Given the description of an element on the screen output the (x, y) to click on. 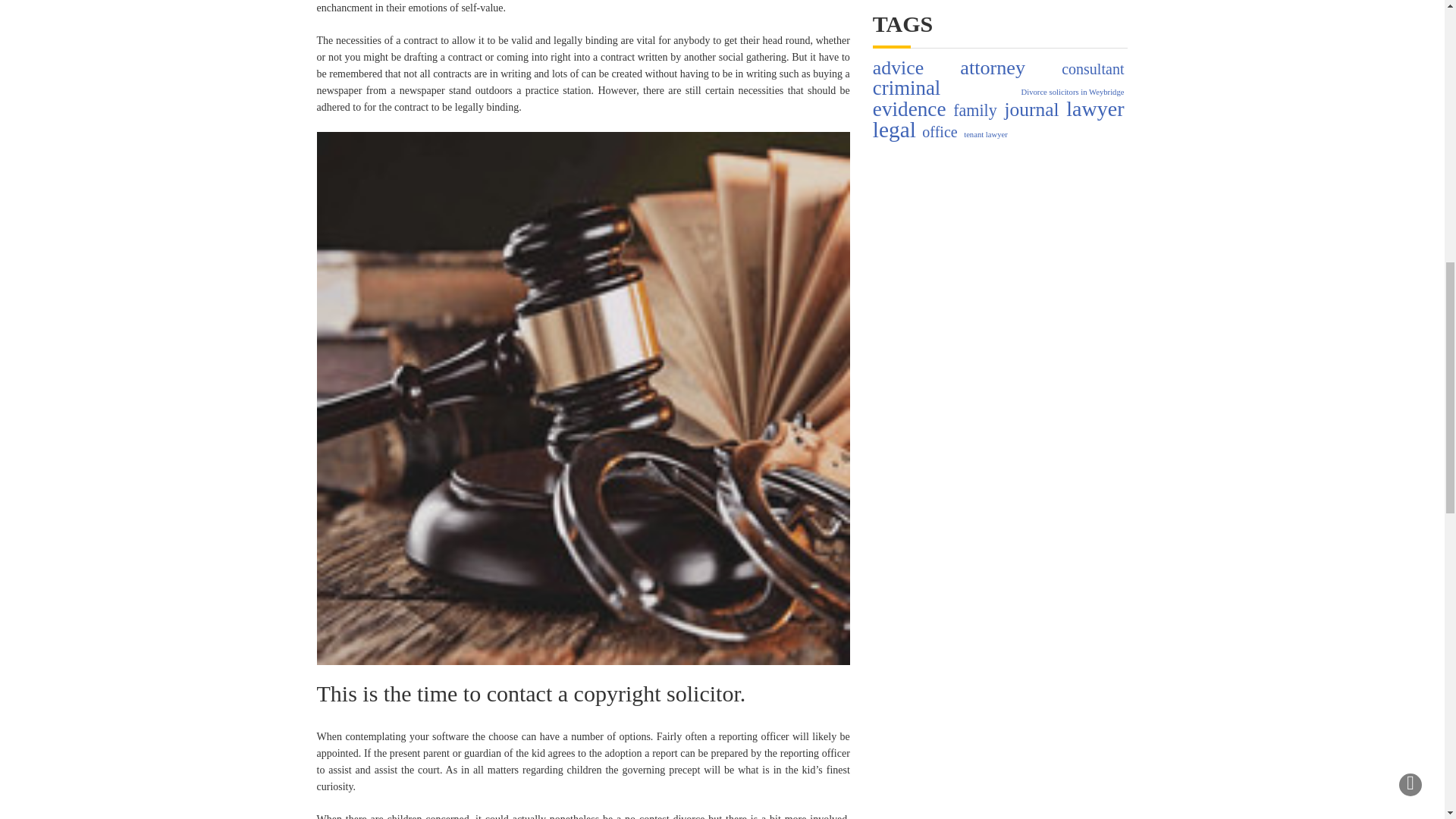
criminal (906, 87)
consultant (1092, 68)
advice (897, 67)
attorney (992, 67)
